Given the description of an element on the screen output the (x, y) to click on. 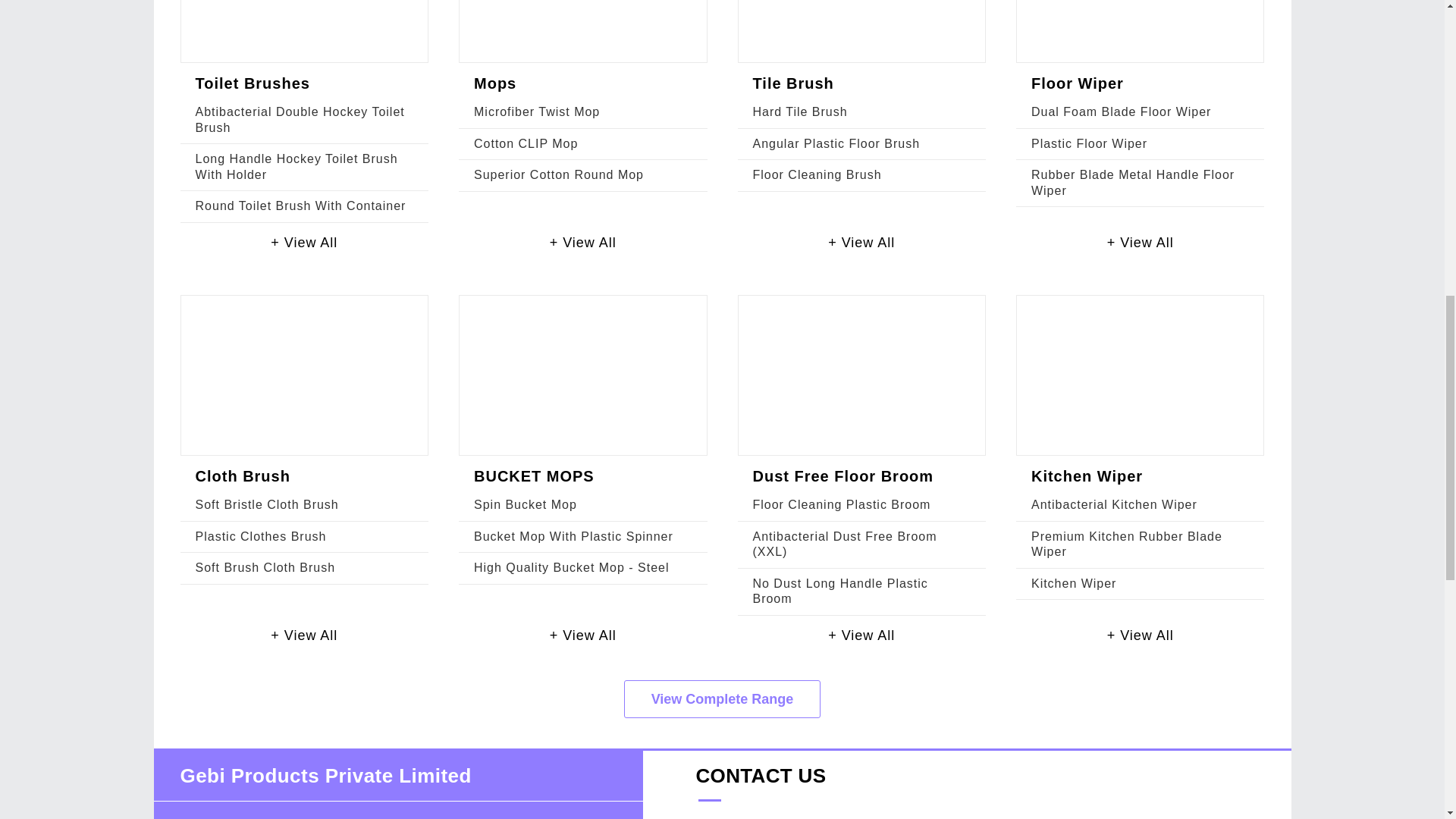
Floor Cleaning Brush (816, 174)
Tile Brush (792, 83)
Angular Plastic Floor Brush (836, 143)
Long Handle Hockey Toilet Brush With Holder (296, 166)
Hard Tile Brush (799, 111)
Cotton CLIP Mop (526, 143)
Mops (495, 83)
Toilet Brushes (252, 83)
Superior Cotton Round Mop (558, 174)
Abtibacterial Double Hockey Toilet Brush (299, 119)
Round Toilet Brush With Container (300, 205)
Microfiber Twist Mop (536, 111)
